Given the description of an element on the screen output the (x, y) to click on. 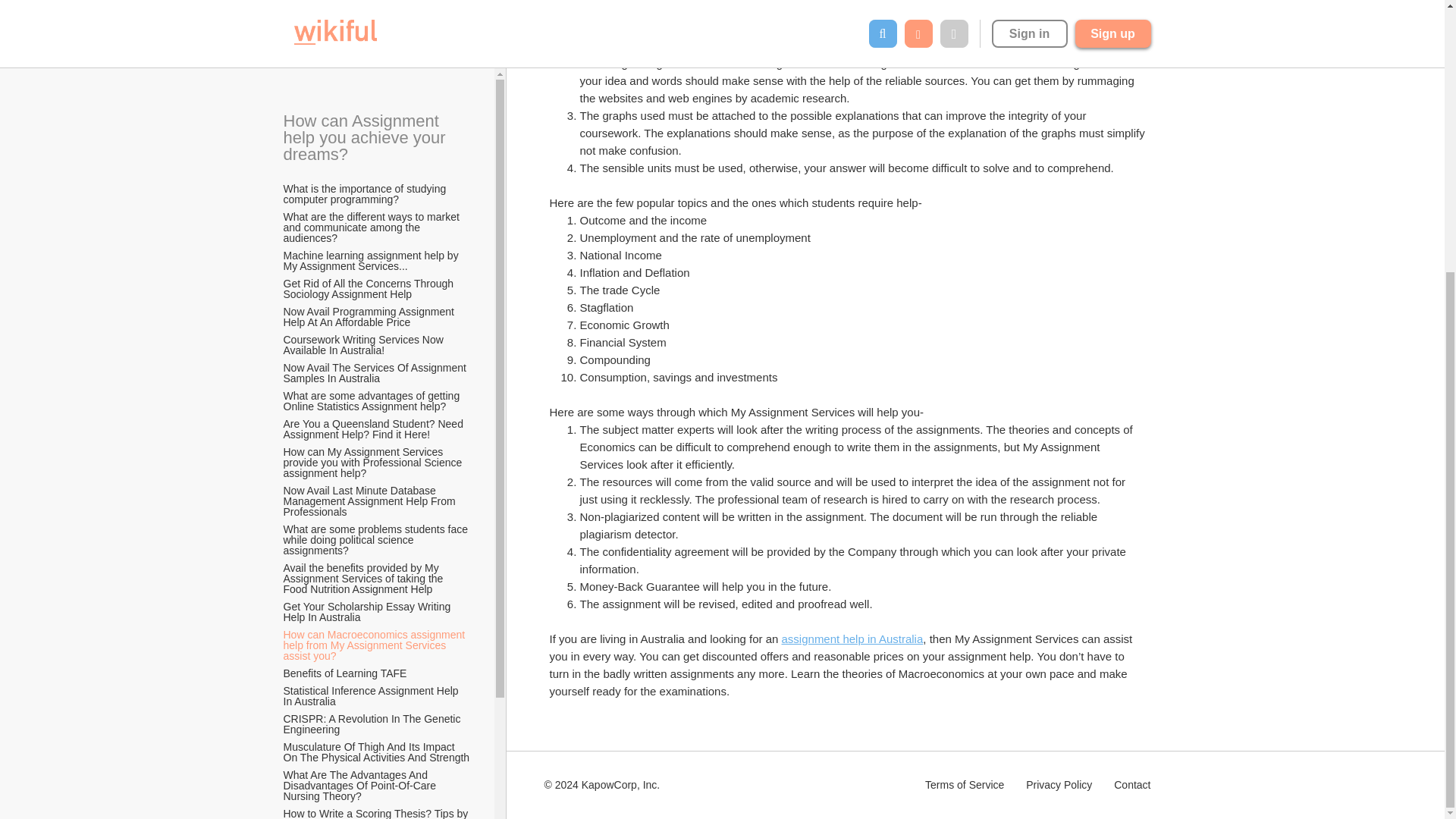
Statistical Inference Assignment Help In Australia (376, 297)
CRISPR: A Revolution In The Genetic Engineering (376, 324)
Benefits of Learning TAFE (345, 273)
Know A Brief About Physiology And Their Branches (376, 476)
Get Your Scholarship Essay Writing Help In Australia (376, 211)
Ethnography assignment help by assignment help providers (376, 559)
